Given the description of an element on the screen output the (x, y) to click on. 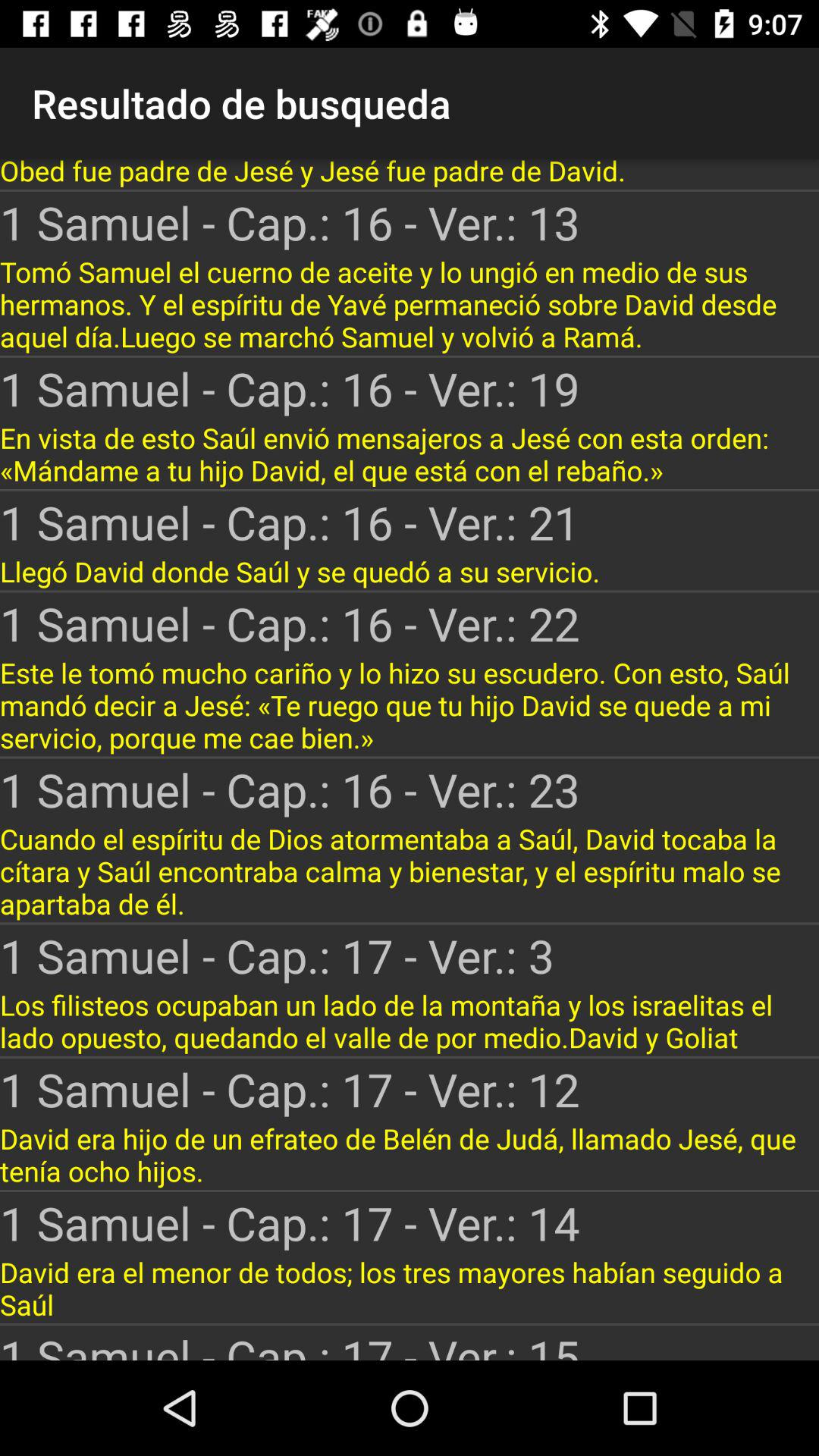
select the app above the 1 samuel cap (409, 1021)
